Given the description of an element on the screen output the (x, y) to click on. 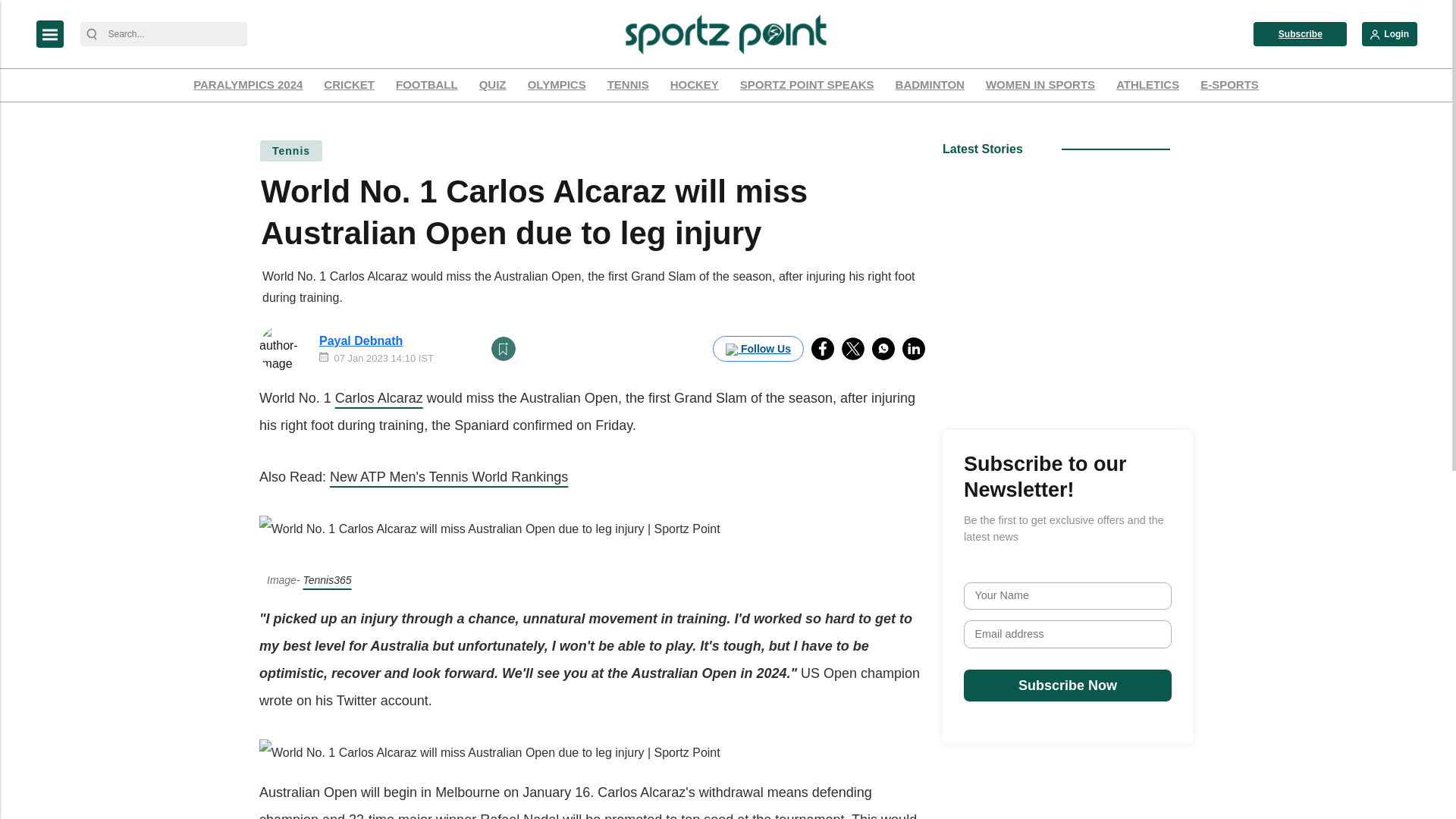
BADMINTON (929, 84)
E-SPORTS (1229, 84)
HOCKEY (694, 84)
QUIZ (493, 84)
WOMEN IN SPORTS (1039, 84)
Subscribe (1299, 33)
FOOTBALL (426, 84)
Follow Us (758, 348)
ATHLETICS (1147, 84)
Tennis (291, 150)
